Given the description of an element on the screen output the (x, y) to click on. 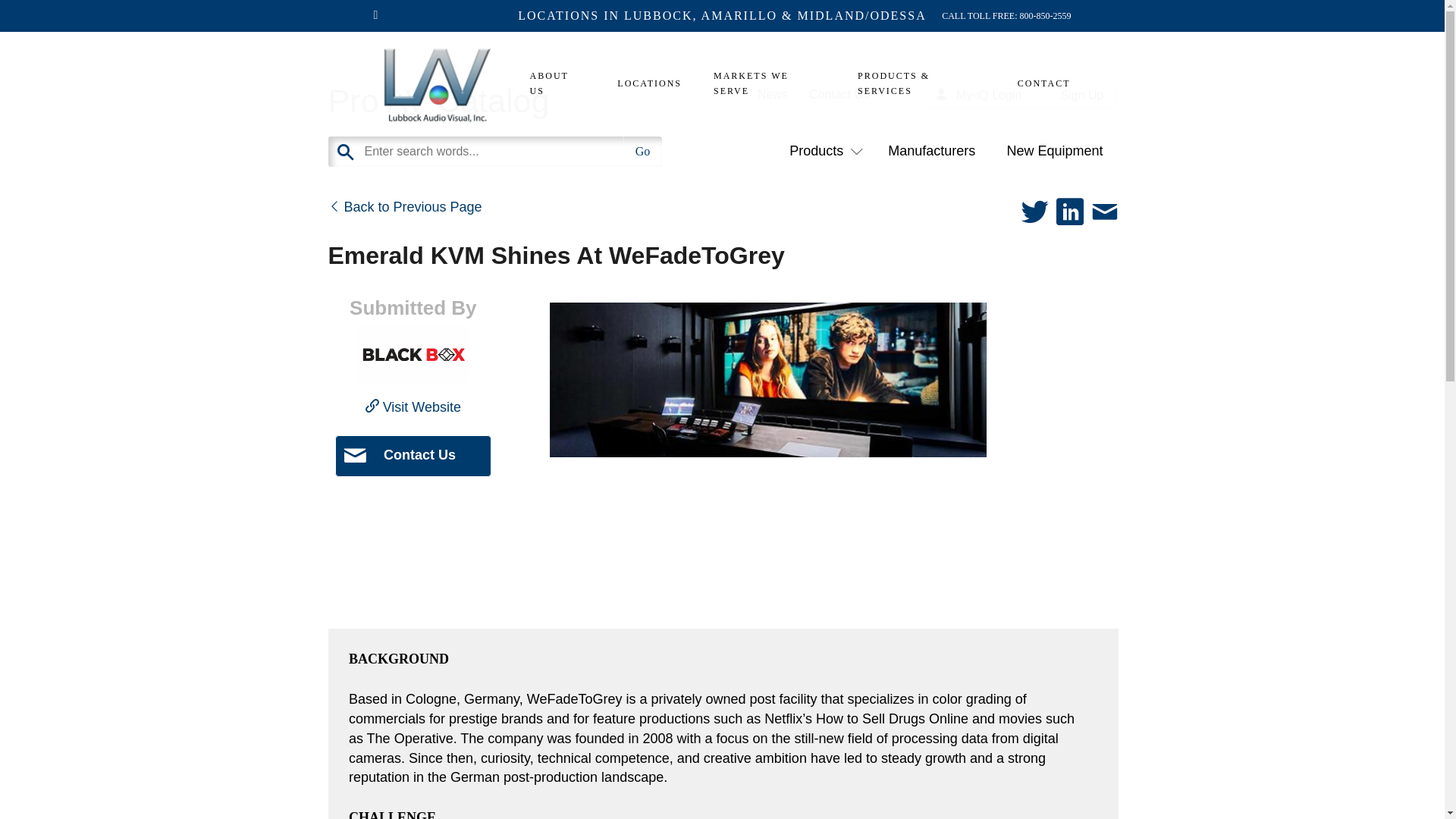
CALL TOLL FREE: 800-850-2559 (1006, 15)
ABOUT US (558, 82)
Go (642, 151)
Enter search words... (531, 151)
LOCATIONS (649, 83)
MARKETS WE SERVE (769, 82)
CONTACT (1036, 83)
Go (642, 151)
